Given the description of an element on the screen output the (x, y) to click on. 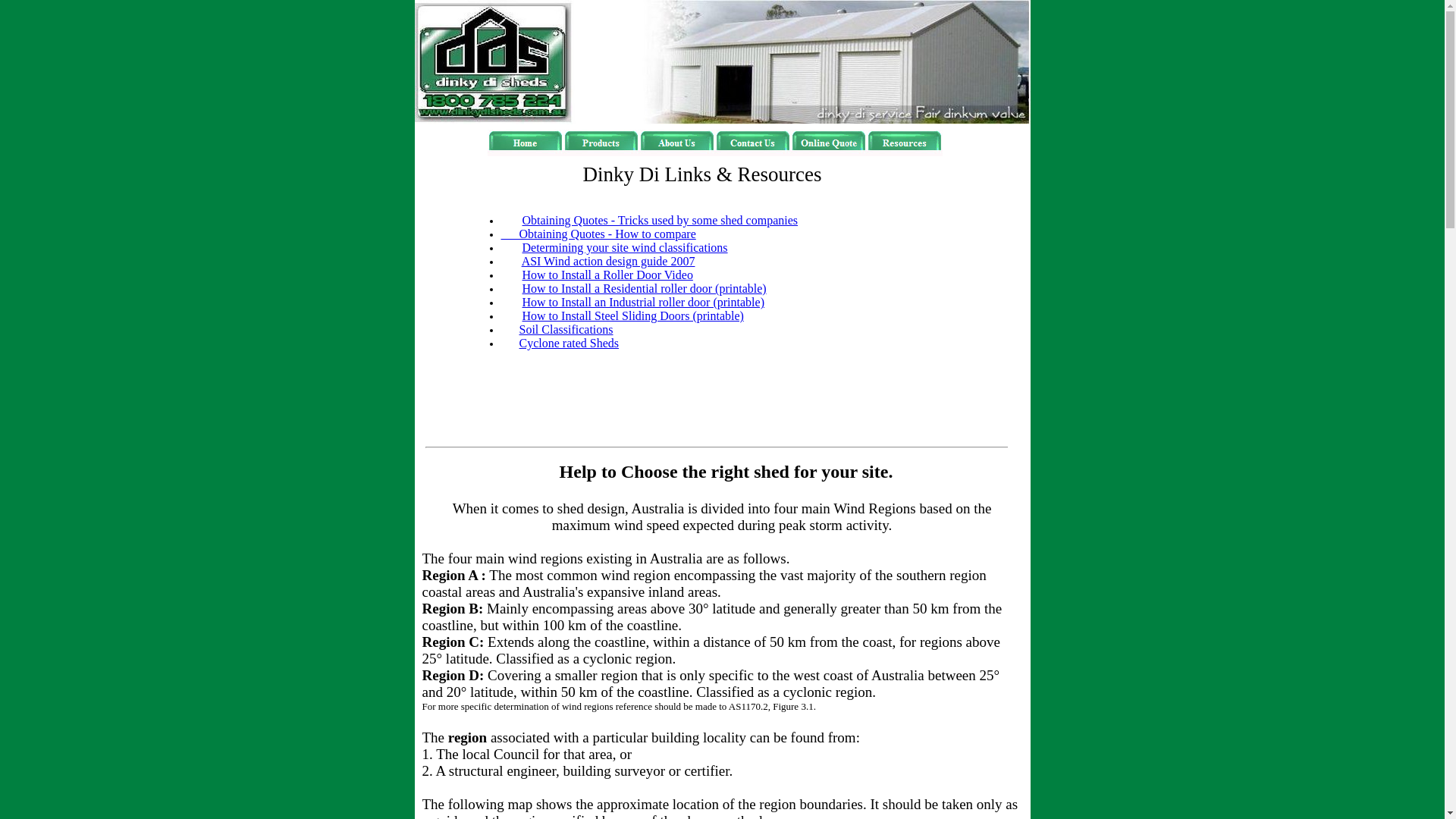
How to Install an Industrial roller door (printable) Element type: text (642, 301)
  Element type: text (434, 466)
Soil Classifications Element type: text (565, 329)
How to Install Steel Sliding Doors (printable) Element type: text (632, 315)
How to Install a Roller Door Video Element type: text (606, 274)
      Obtaining Quotes - How to compare Element type: text (597, 233)
ASI Wind action design guide 2007 Element type: text (608, 260)
Cyclone rated Sheds Element type: text (568, 342)
How to Install a Residential roller door (printable) Element type: text (643, 288)
Determining your site wind classifications Element type: text (624, 247)
Obtaining Quotes - Tricks used by some shed companies Element type: text (659, 219)
